Given the description of an element on the screen output the (x, y) to click on. 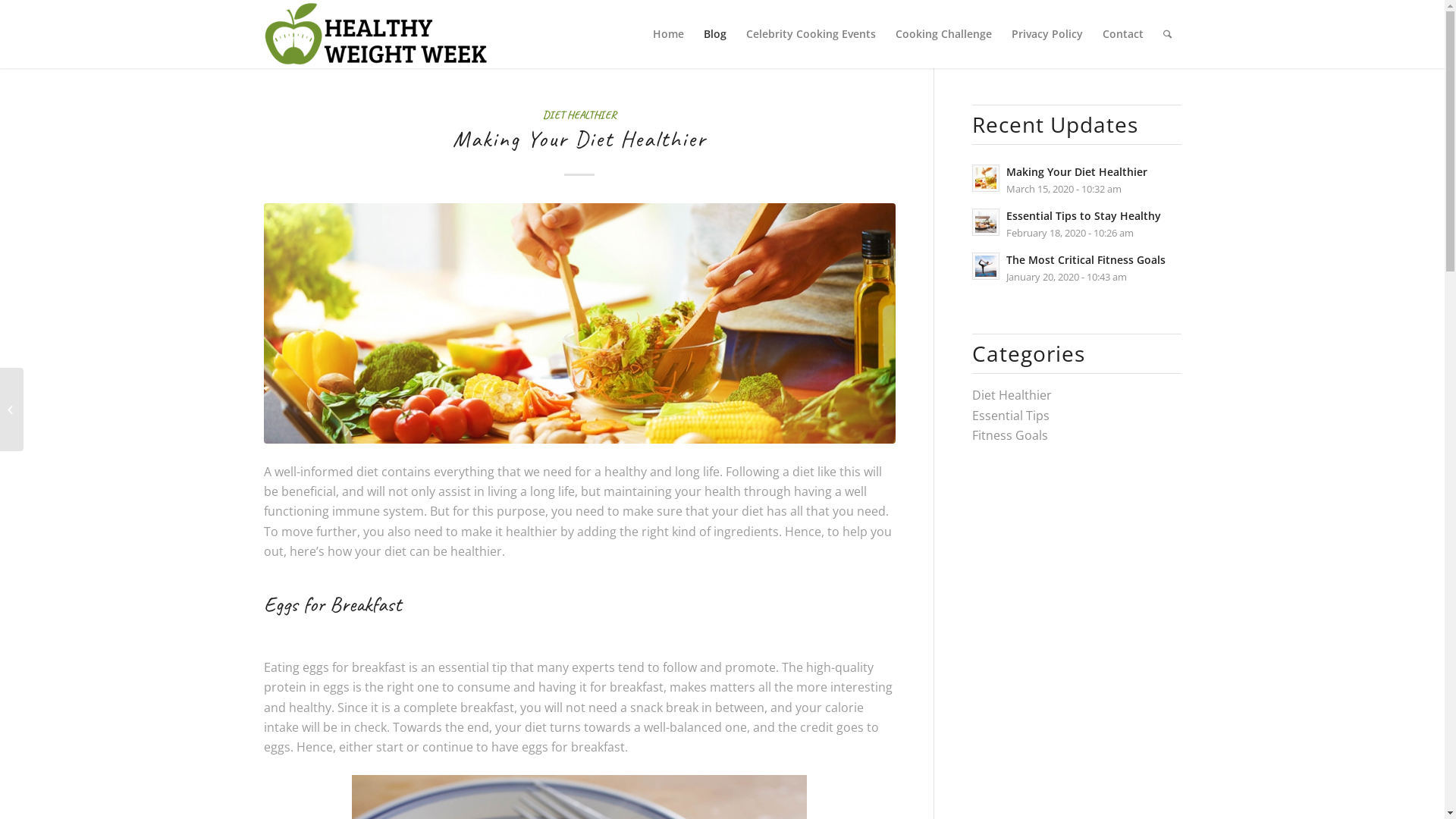
The Most Critical Fitness Goals
January 20, 2020 - 10:43 am Element type: text (1076, 267)
Diet Healthier Element type: text (1011, 394)
Essential Tips Element type: text (1010, 415)
Cooking Challenge Element type: text (943, 34)
Privacy Policy Element type: text (1046, 34)
Essential Tips to Stay Healthy
February 18, 2020 - 10:26 am Element type: text (1076, 223)
Blog Element type: text (714, 34)
Celebrity Cooking Events Element type: text (809, 34)
Home Element type: text (668, 34)
DIET HEALTHIER Element type: text (579, 114)
Contact Element type: text (1122, 34)
Fitness Goals Element type: text (1010, 434)
Making Your Diet Healthier Element type: text (579, 138)
Making Your Diet Healthier Element type: hover (579, 323)
Making Your Diet Healthier
March 15, 2020 - 10:32 am Element type: text (1076, 179)
